Given the description of an element on the screen output the (x, y) to click on. 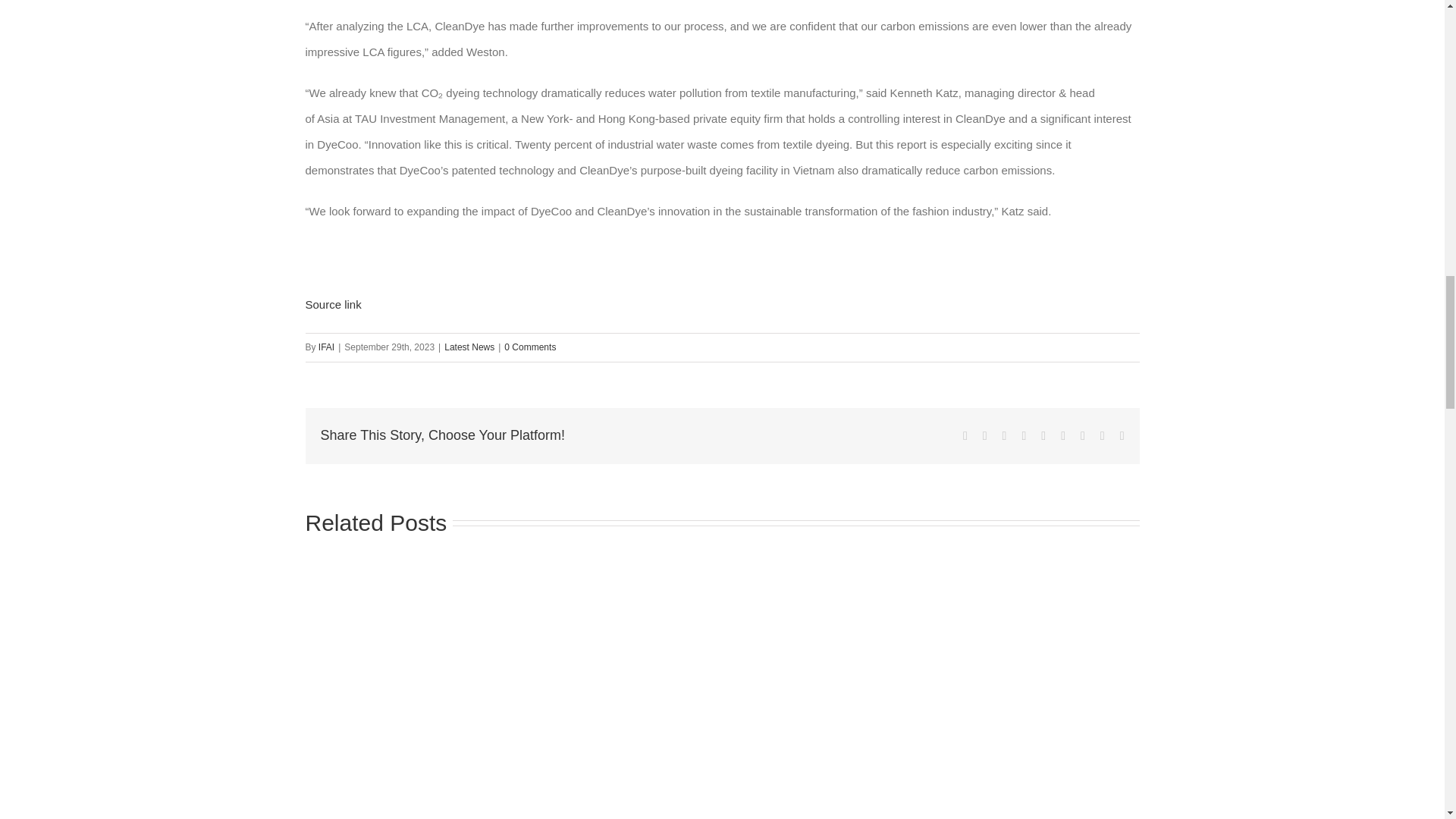
Pinterest (1082, 435)
Whatsapp (1043, 435)
Pinterest (1082, 435)
0 Comments (529, 347)
Reddit (1024, 435)
Email (1121, 435)
Email (1121, 435)
LinkedIn (1005, 435)
Vk (1102, 435)
Source link (332, 304)
Tumblr (1063, 435)
Facebook (965, 435)
Posts by IFAI (326, 347)
Vk (1102, 435)
Tumblr (1063, 435)
